Given the description of an element on the screen output the (x, y) to click on. 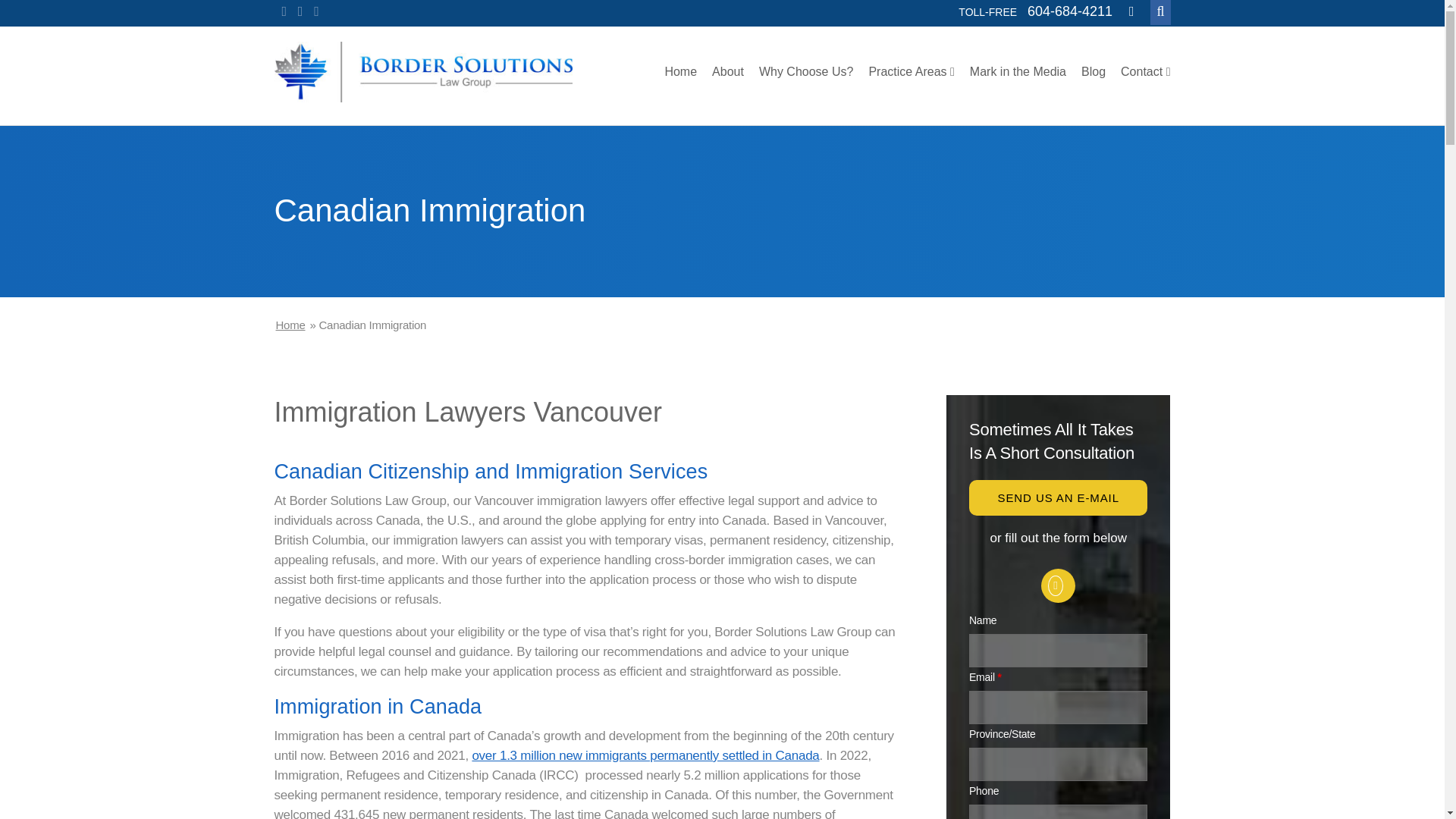
About (727, 71)
Practice Areas (910, 71)
Home (680, 71)
Contact (1145, 71)
Call Us (1069, 11)
Mark in the Media (1017, 71)
Blog (1093, 71)
Why Choose Us? (805, 71)
604-684-4211 (1069, 11)
